Given the description of an element on the screen output the (x, y) to click on. 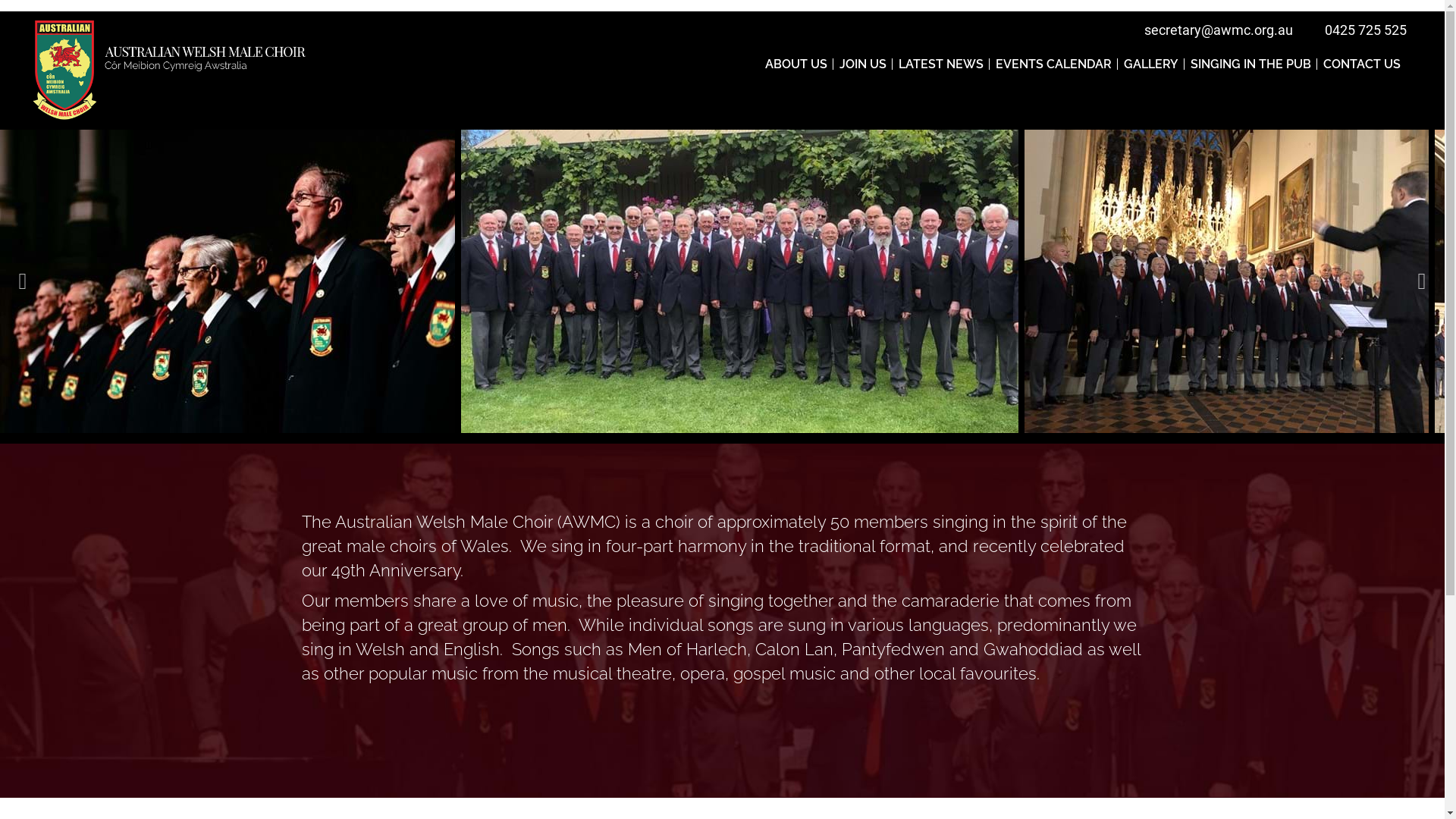
ABOUT US Element type: text (796, 64)
LATEST NEWS Element type: text (940, 64)
JOIN US Element type: text (862, 64)
secretary@awmc.org.au Element type: text (1218, 29)
0425 725 525 Element type: text (1365, 29)
GALLERY Element type: text (1150, 64)
CONTACT US Element type: text (1361, 64)
EVENTS CALENDAR Element type: text (1053, 64)
SINGING IN THE PUB Element type: text (1250, 64)
